Given the description of an element on the screen output the (x, y) to click on. 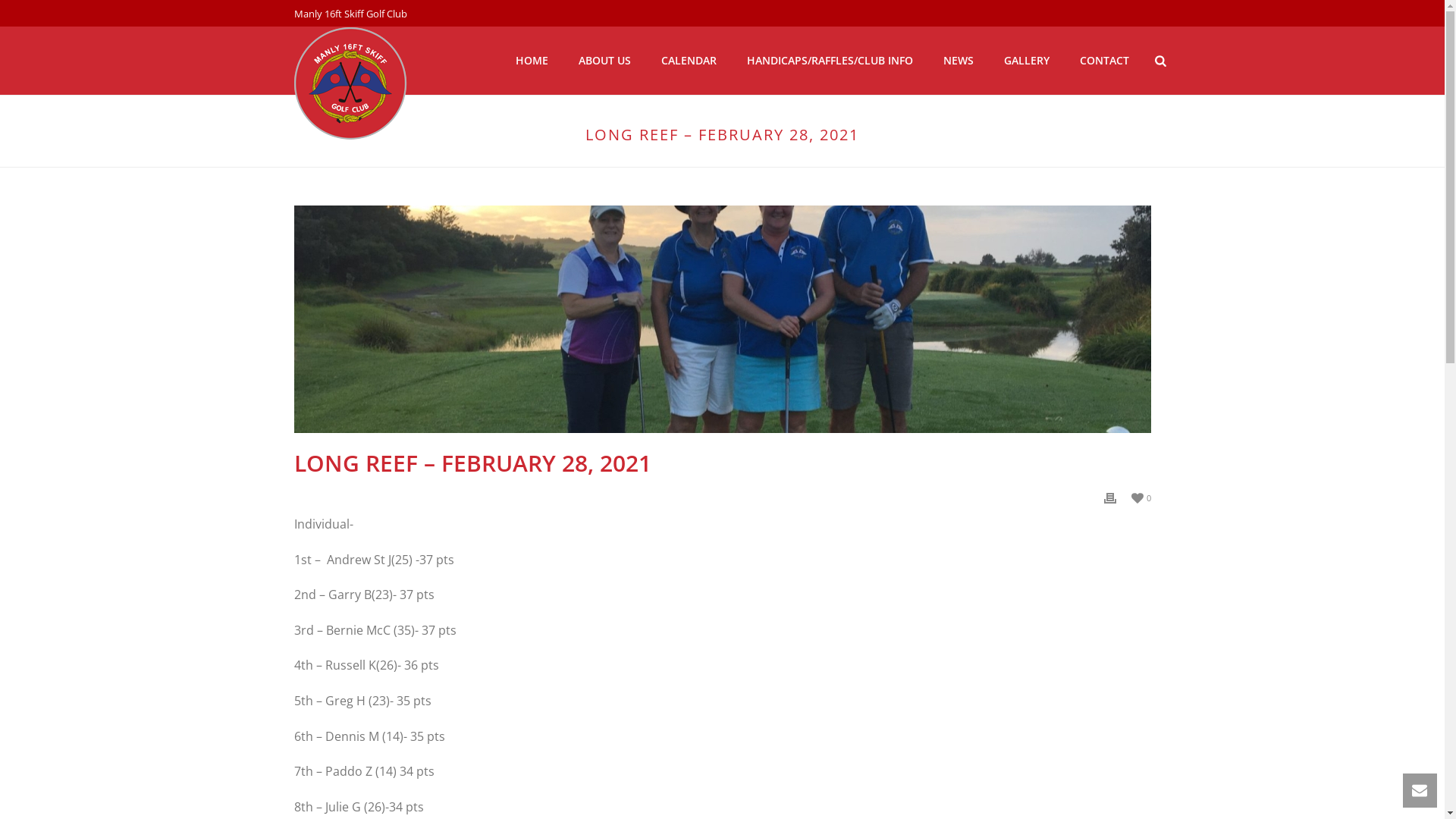
HOME Element type: text (531, 60)
CALENDAR Element type: text (688, 60)
NEWS Element type: text (958, 60)
GALLERY Element type: text (1026, 60)
ABOUT US Element type: text (604, 60)
Print Element type: hover (1110, 496)
0 Element type: text (1141, 496)
  Element type: text (722, 319)
HANDICAPS/RAFFLES/CLUB INFO Element type: text (829, 60)
manlyskiffgolfclub@gmail.com Element type: text (387, 710)
CONTACT Element type: text (1104, 60)
